Given the description of an element on the screen output the (x, y) to click on. 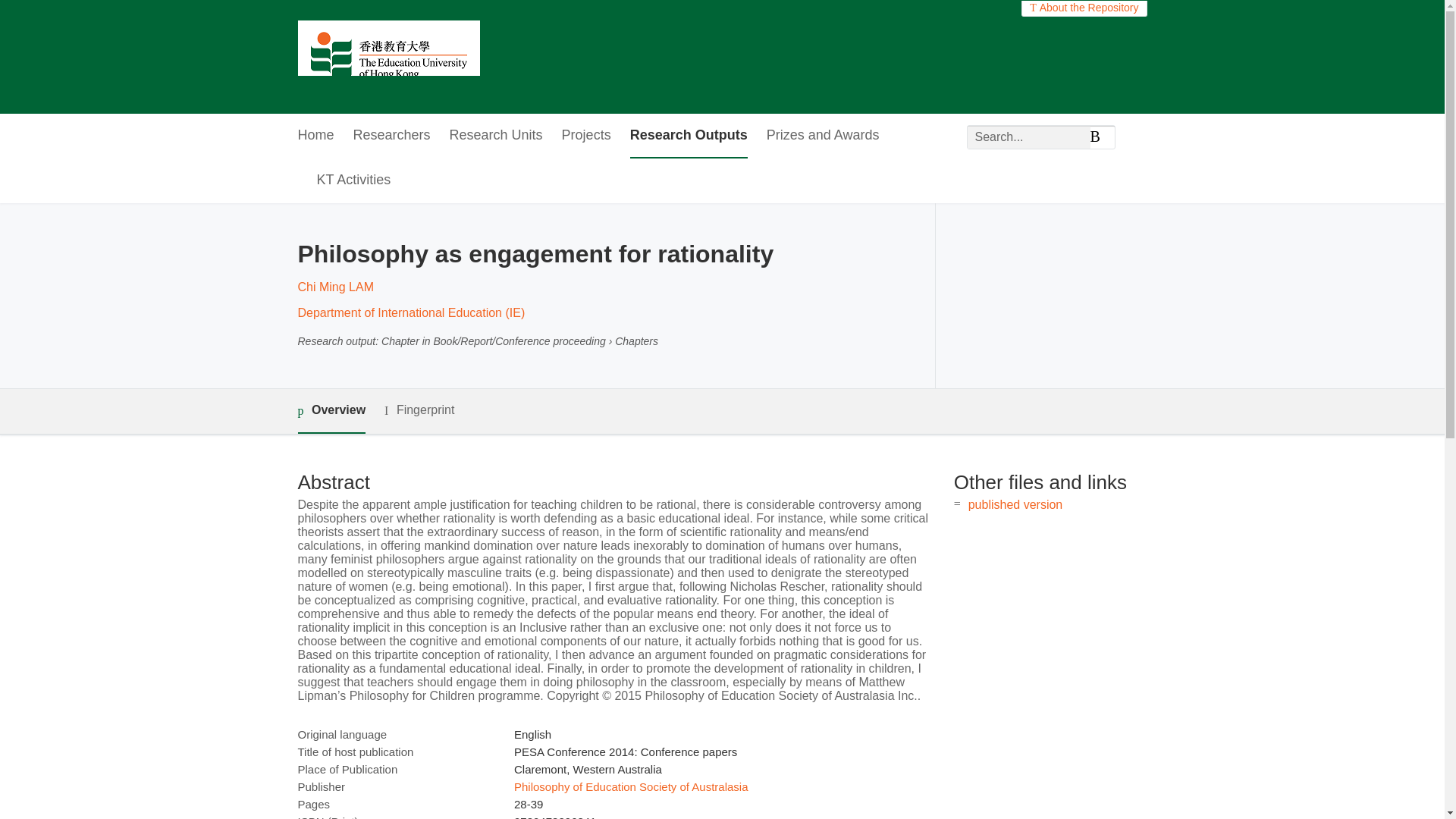
Researchers (391, 135)
Fingerprint (419, 410)
About the Repository (1083, 7)
Chi Ming LAM (334, 286)
Overview (331, 411)
Projects (586, 135)
Philosophy of Education Society of Australasia (630, 786)
Research Outputs (689, 135)
Prizes and Awards (823, 135)
